Given the description of an element on the screen output the (x, y) to click on. 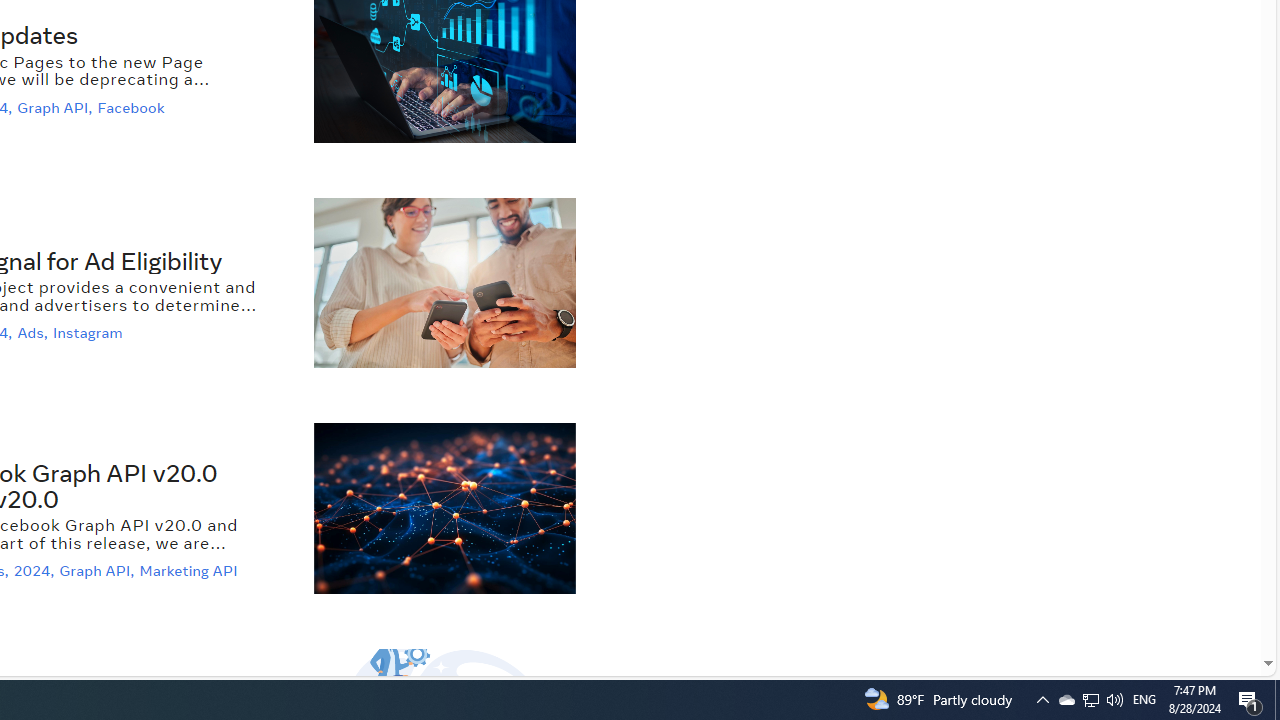
2024, (36, 571)
Marketing API (191, 571)
Ads, (34, 333)
Instagram (90, 333)
Graph API, (98, 571)
